Given the description of an element on the screen output the (x, y) to click on. 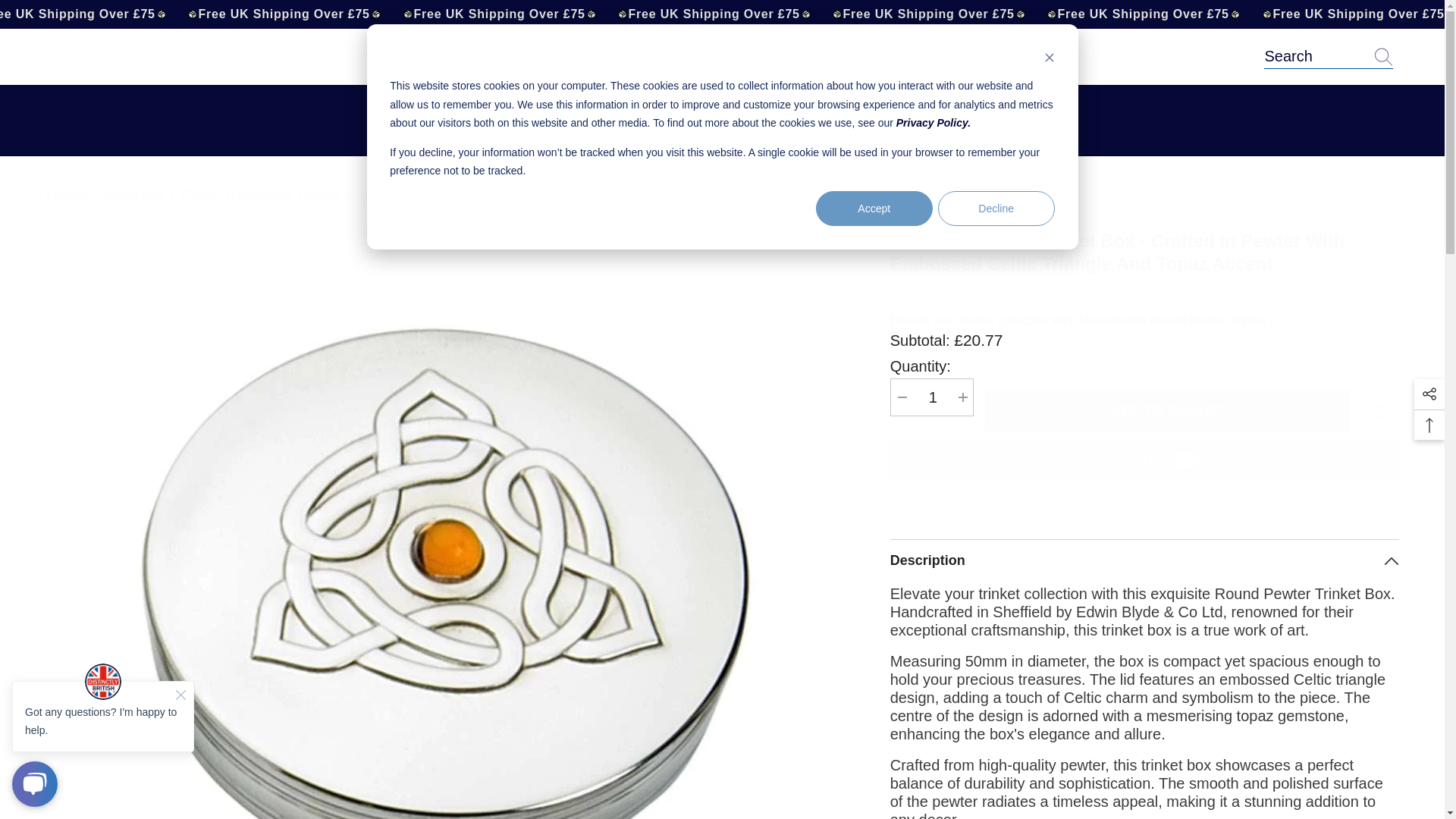
ADD TO BASKET (1167, 410)
Decline (995, 208)
Add to wishlist (1380, 412)
1 (1144, 477)
Privacy Policy. (931, 397)
Accept (933, 122)
